Given the description of an element on the screen output the (x, y) to click on. 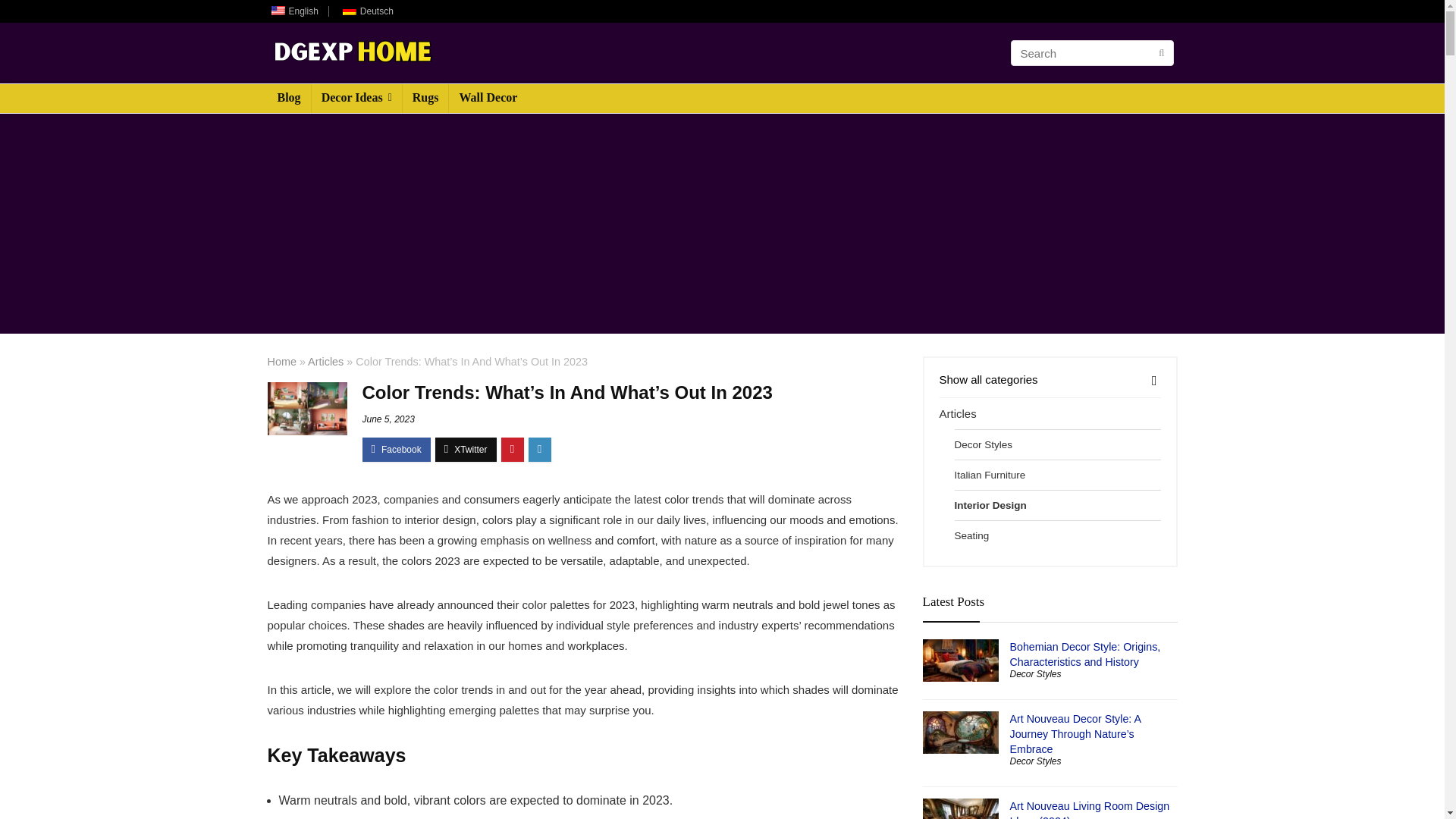
Decor Ideas (356, 98)
Blog (288, 98)
Rugs (425, 98)
English (277, 10)
English (291, 10)
Wall Decor (487, 98)
Articles (325, 361)
Deutsch (366, 10)
Home (280, 361)
Deutsch (349, 10)
